Given the description of an element on the screen output the (x, y) to click on. 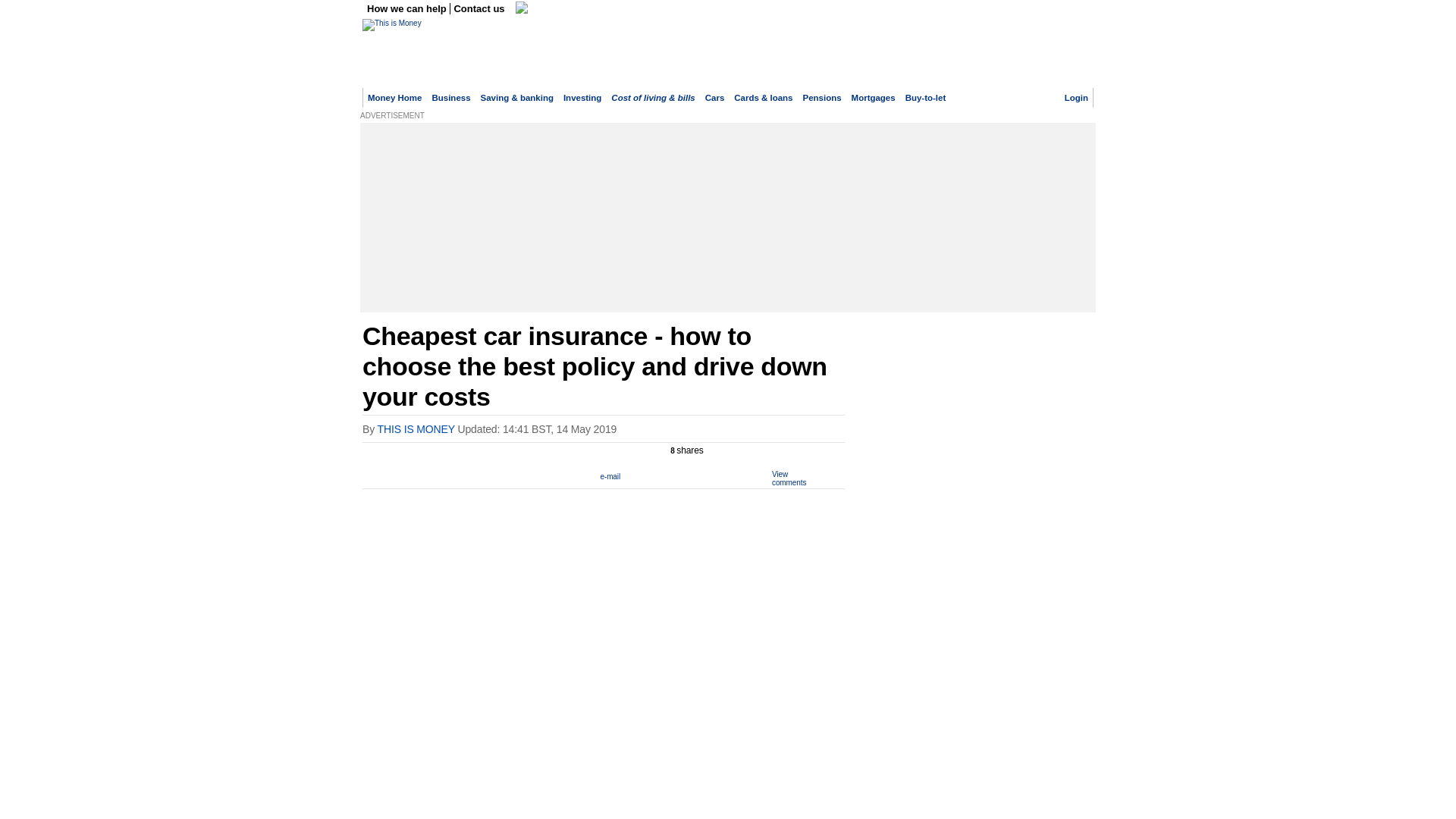
How we can help (407, 8)
Buy-to-let (925, 97)
Business (450, 97)
Investing (582, 97)
Login (1075, 97)
Pensions (822, 97)
Mortgages (873, 97)
Cars (714, 97)
Contact us (479, 8)
Money Home (395, 97)
